Given the description of an element on the screen output the (x, y) to click on. 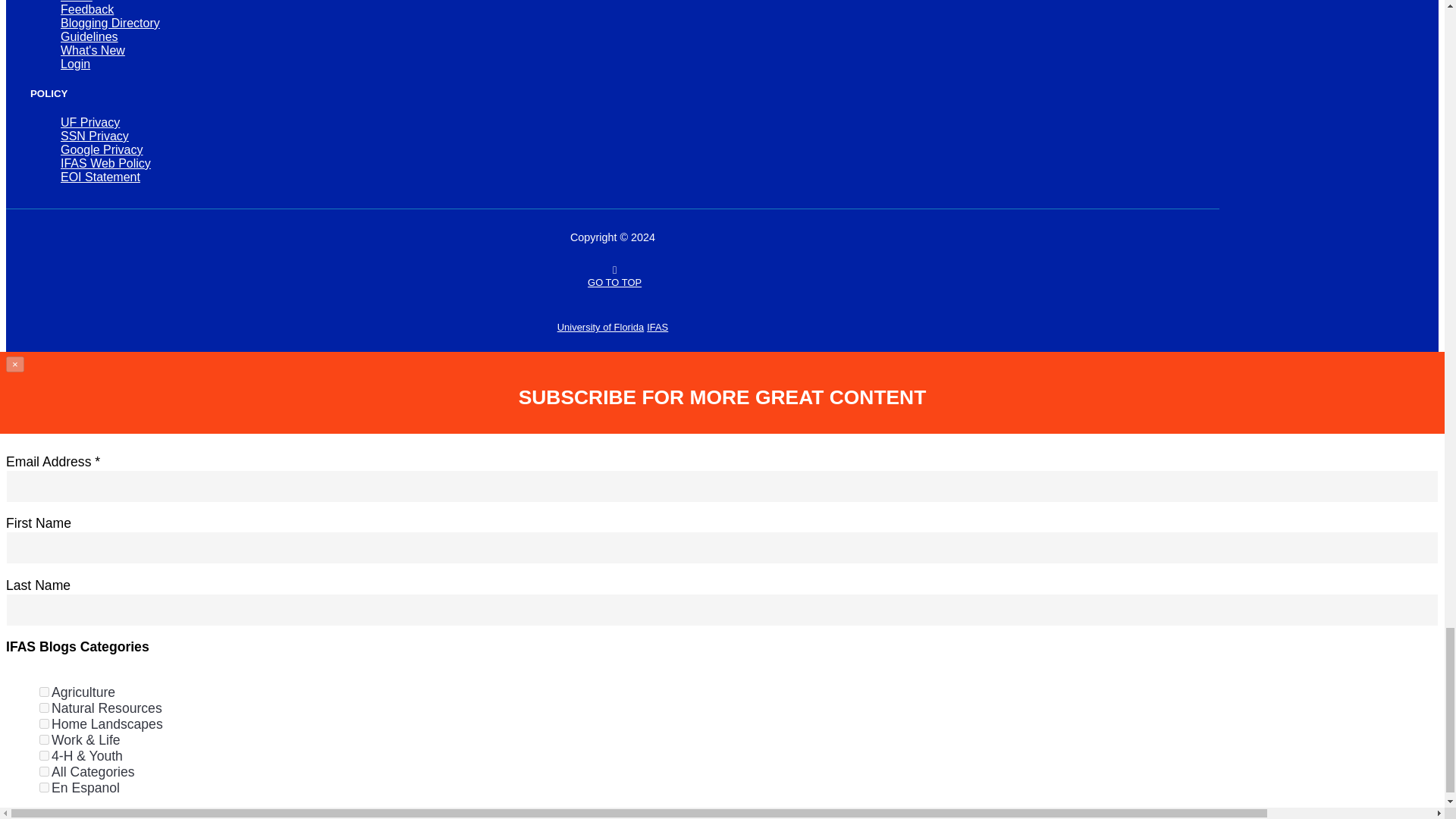
1 (44, 691)
4 (44, 723)
64 (44, 787)
2 (44, 707)
16 (44, 755)
8 (44, 739)
32 (44, 771)
